Given the description of an element on the screen output the (x, y) to click on. 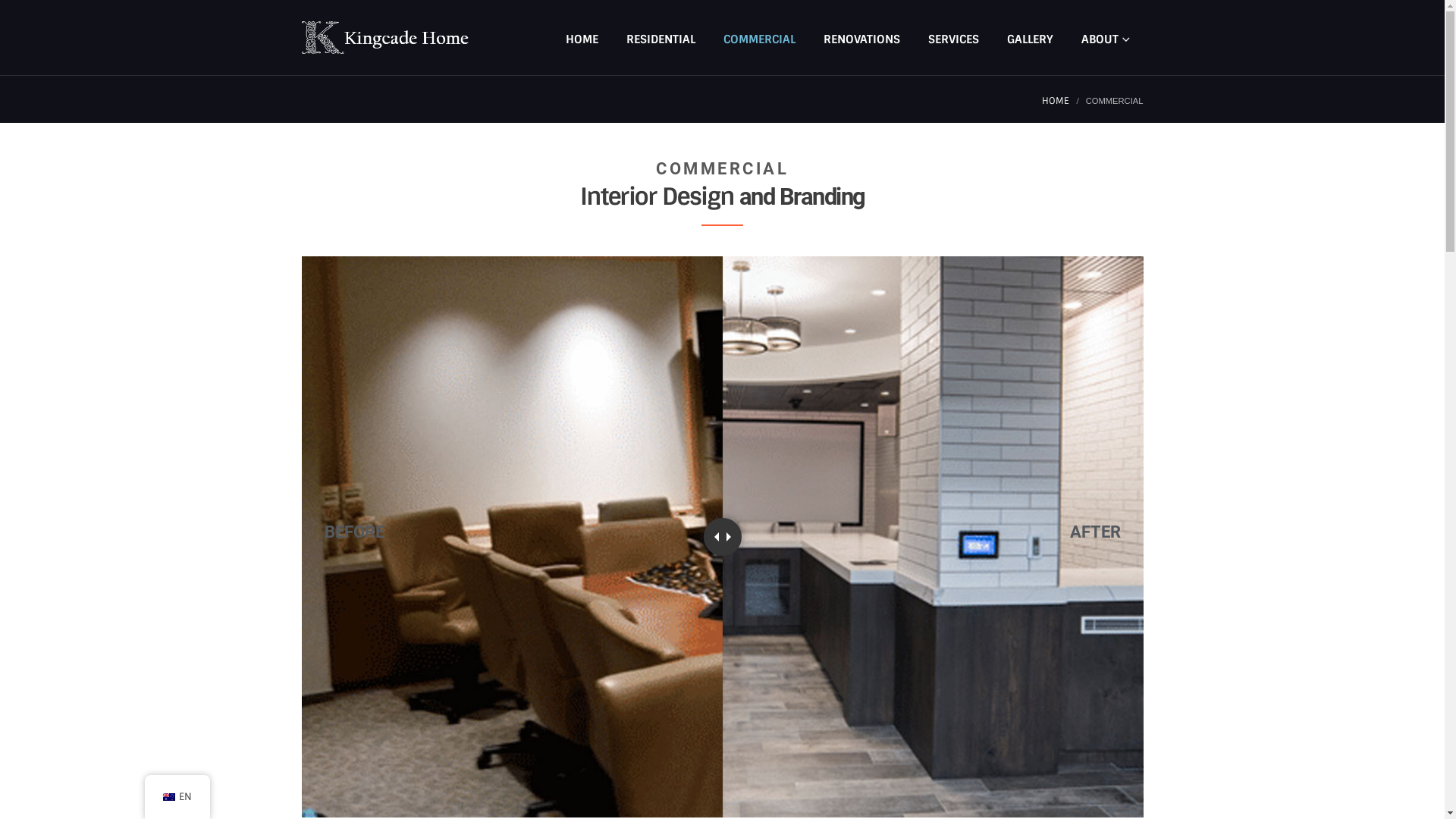
COMMERCIAL Element type: text (759, 37)
RENOVATIONS Element type: text (861, 37)
RESIDENTIAL Element type: text (660, 37)
English (Australia) Element type: hover (168, 797)
Interior Design Element type: text (657, 196)
Kingcade Home -  Element type: hover (384, 37)
EN Element type: text (176, 796)
HOME Element type: text (1055, 100)
ABOUT Element type: text (1105, 37)
SERVICES Element type: text (953, 37)
GALLERY Element type: text (1029, 37)
HOME Element type: text (581, 37)
